Given the description of an element on the screen output the (x, y) to click on. 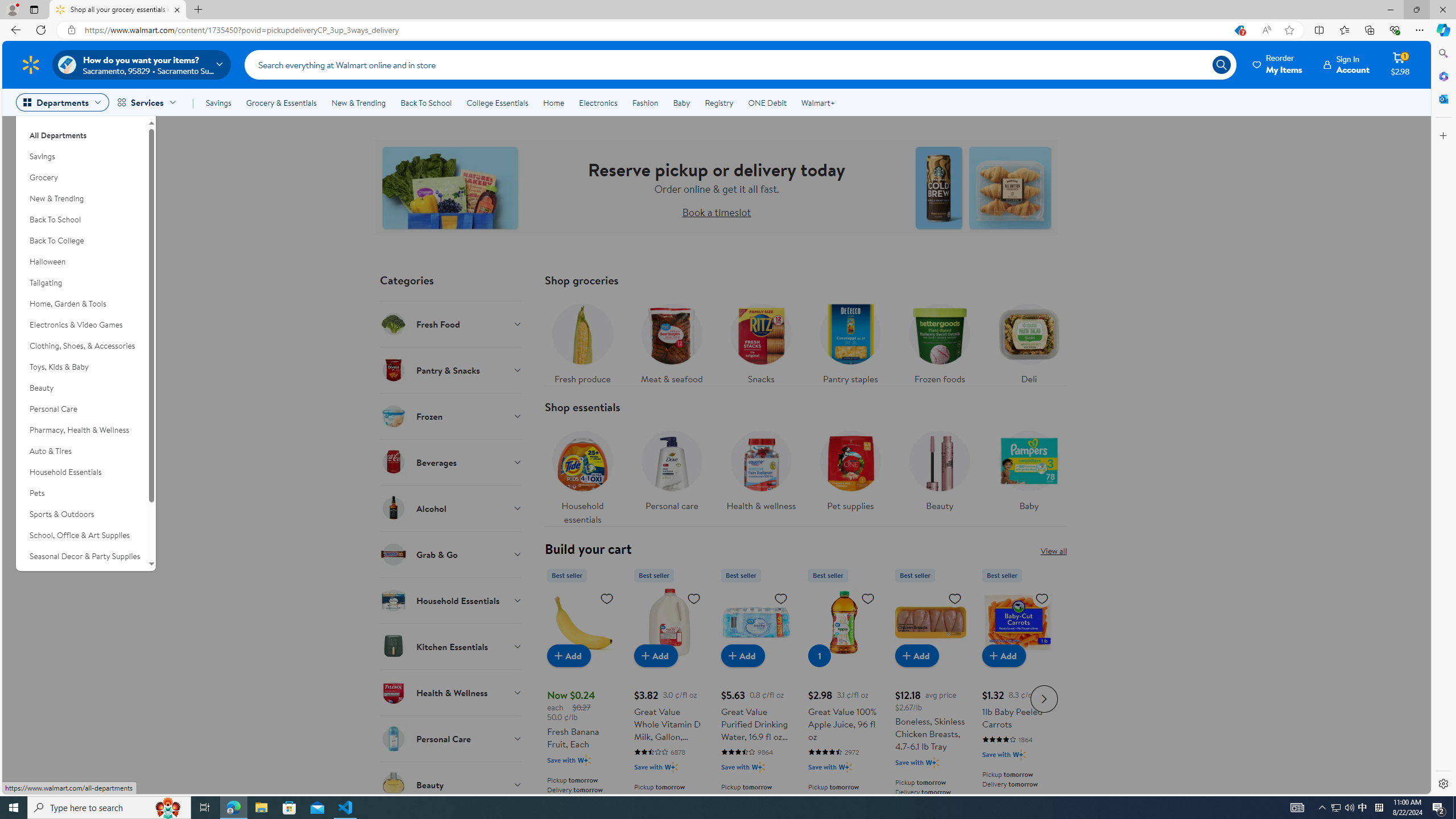
Tailgating (81, 282)
Personal Care (81, 408)
Walmart Homepage (30, 64)
Back To School (425, 102)
Pharmacy, Health & Wellness (81, 429)
Baby (1029, 473)
School, Office & Art Supplies (81, 535)
Electronics & Video Games (81, 324)
Home, Garden & Tools (81, 303)
Sign In Account (1347, 64)
New & Trending (358, 102)
Deli (1029, 340)
